Given the description of an element on the screen output the (x, y) to click on. 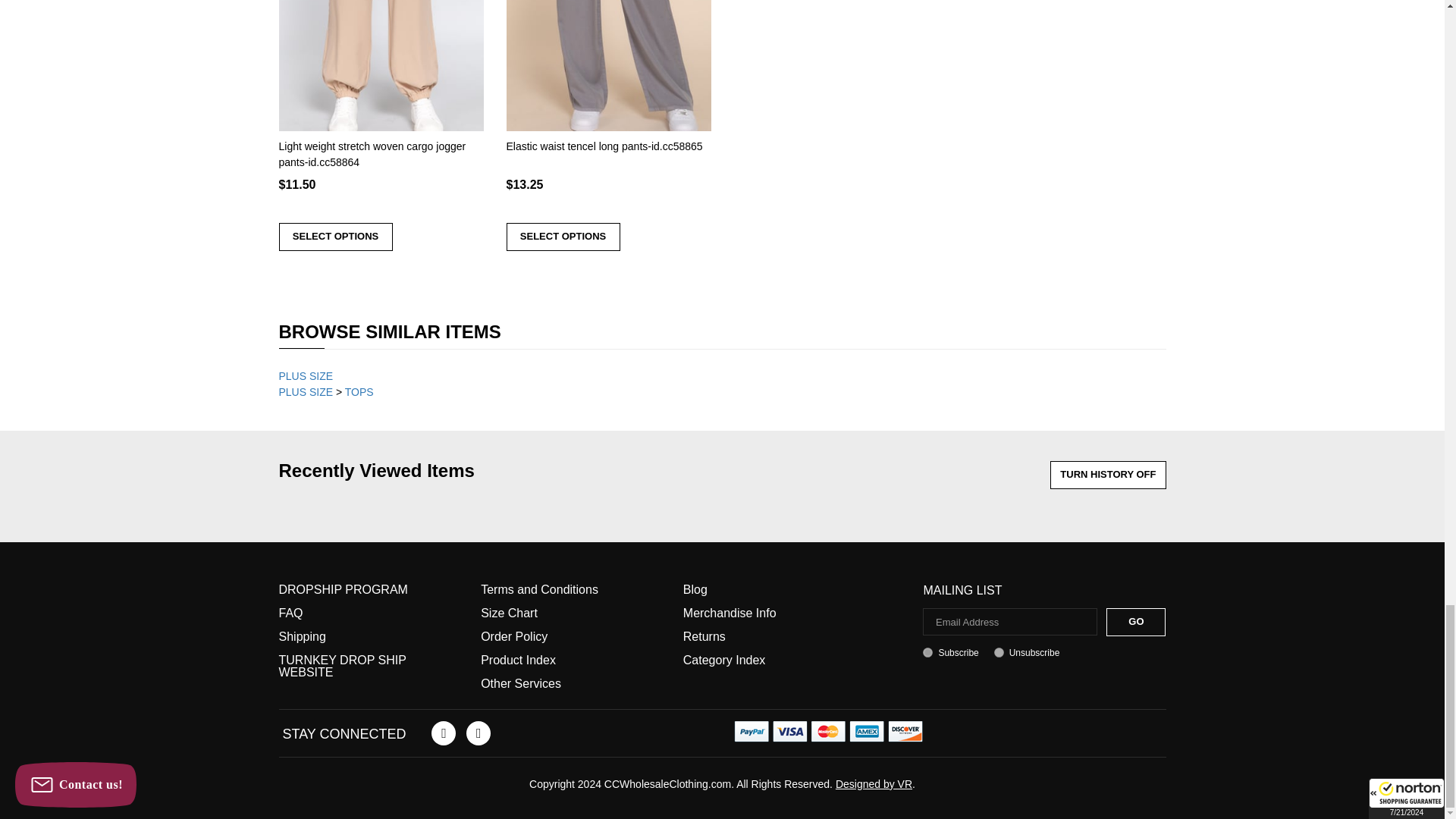
Follow Us on Instagram (477, 733)
0 (999, 652)
1 (928, 652)
Credit Card Logos (828, 731)
Like Us on Facebook (442, 733)
